Given the description of an element on the screen output the (x, y) to click on. 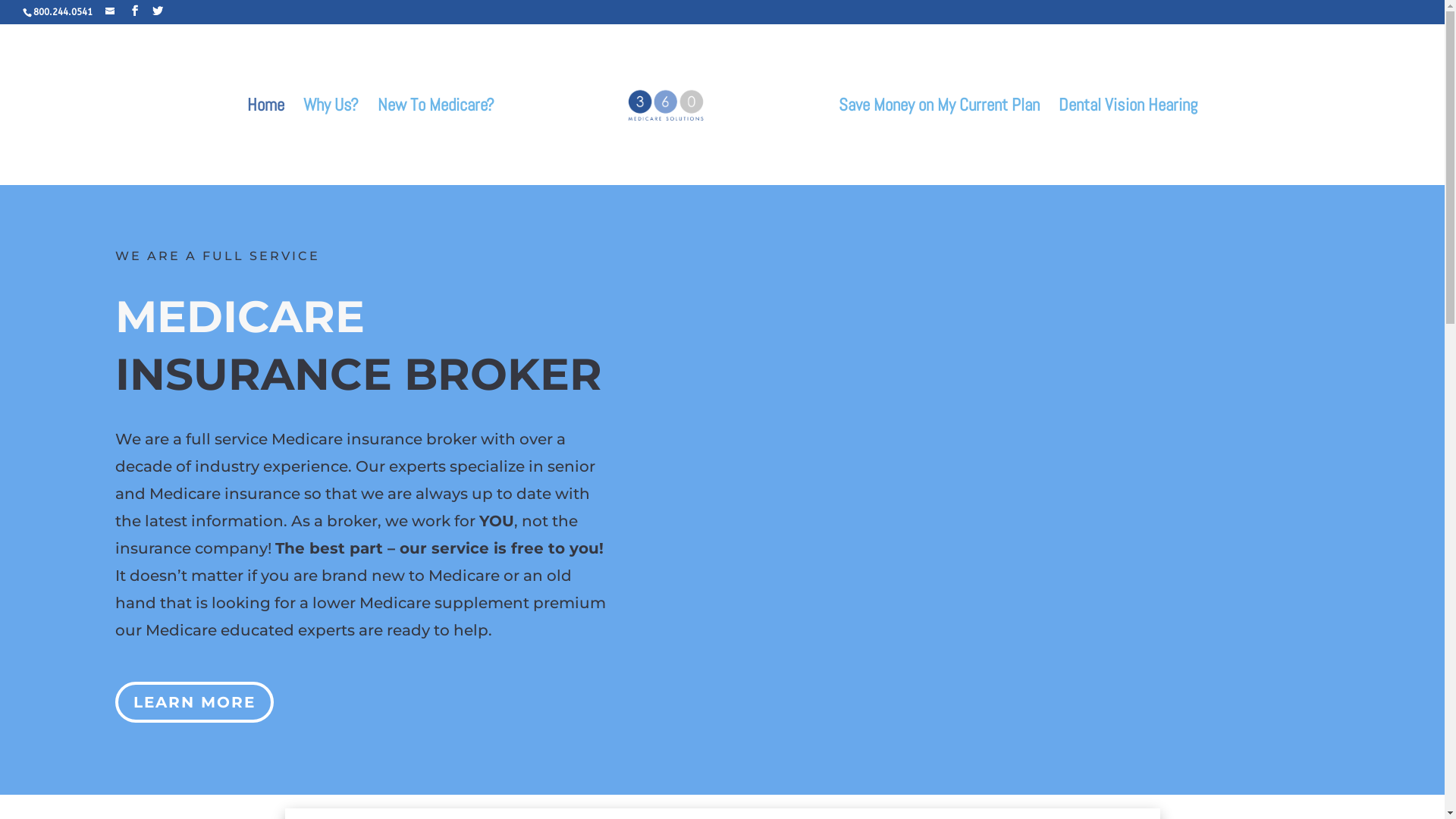
Home Element type: text (265, 142)
LEARN MORE Element type: text (194, 701)
New To Medicare? Element type: text (435, 142)
Why Us? Element type: text (330, 142)
Dental Vision Hearing Element type: text (1127, 142)
Save Money on My Current Plan Element type: text (938, 142)
